Given the description of an element on the screen output the (x, y) to click on. 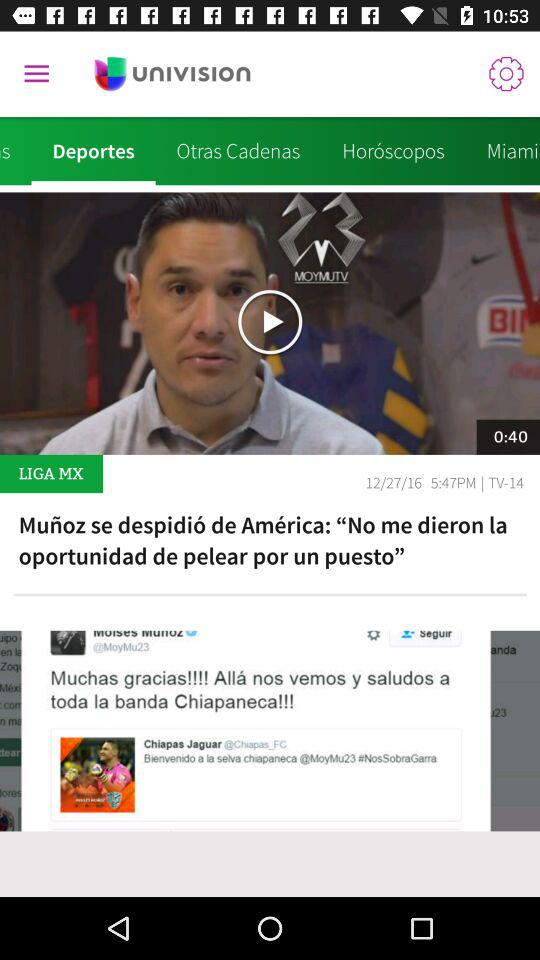
choose the icon to the right of the deportes (238, 151)
